Given the description of an element on the screen output the (x, y) to click on. 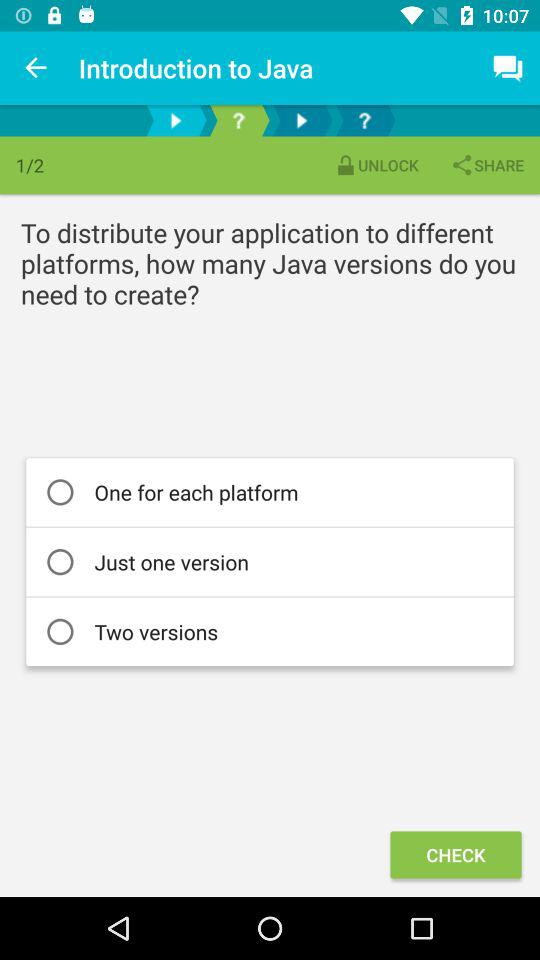
click item to the right of unlock (487, 164)
